Given the description of an element on the screen output the (x, y) to click on. 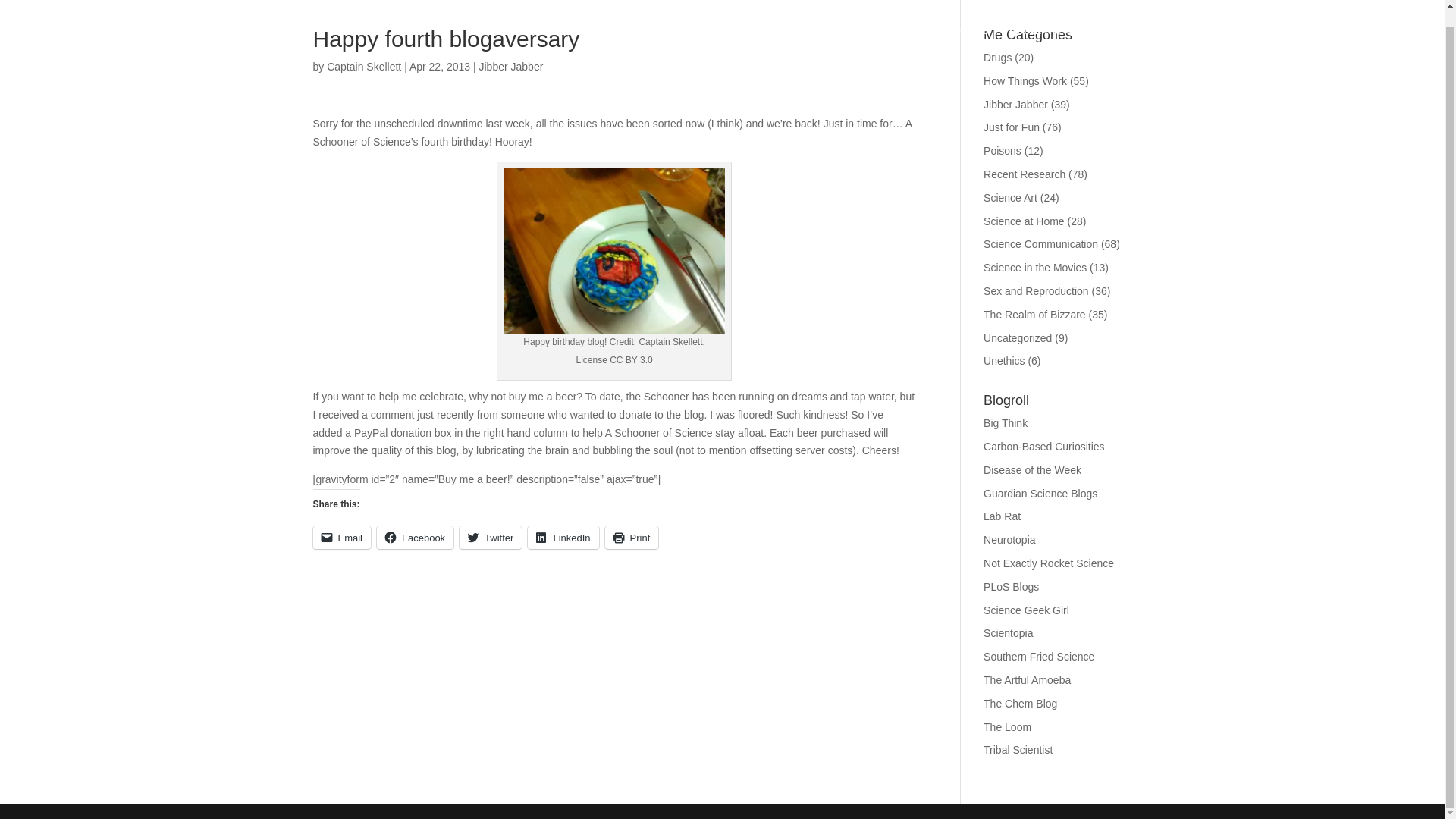
Group of Science Bloggers (1040, 493)
Science at Home (1024, 221)
Click to share on LinkedIn (562, 537)
Click to share on Facebook (414, 537)
Click to email a link to a friend (342, 537)
Lab Rat (1002, 516)
Facebook (414, 537)
Tribal Scientist (1018, 749)
Print (632, 537)
Uncategorized (1017, 337)
Jibber Jabber (511, 66)
Click to print (632, 537)
About the Author (1055, 27)
Chock full of glial goodness (1009, 539)
Science Art (1010, 197)
